Given the description of an element on the screen output the (x, y) to click on. 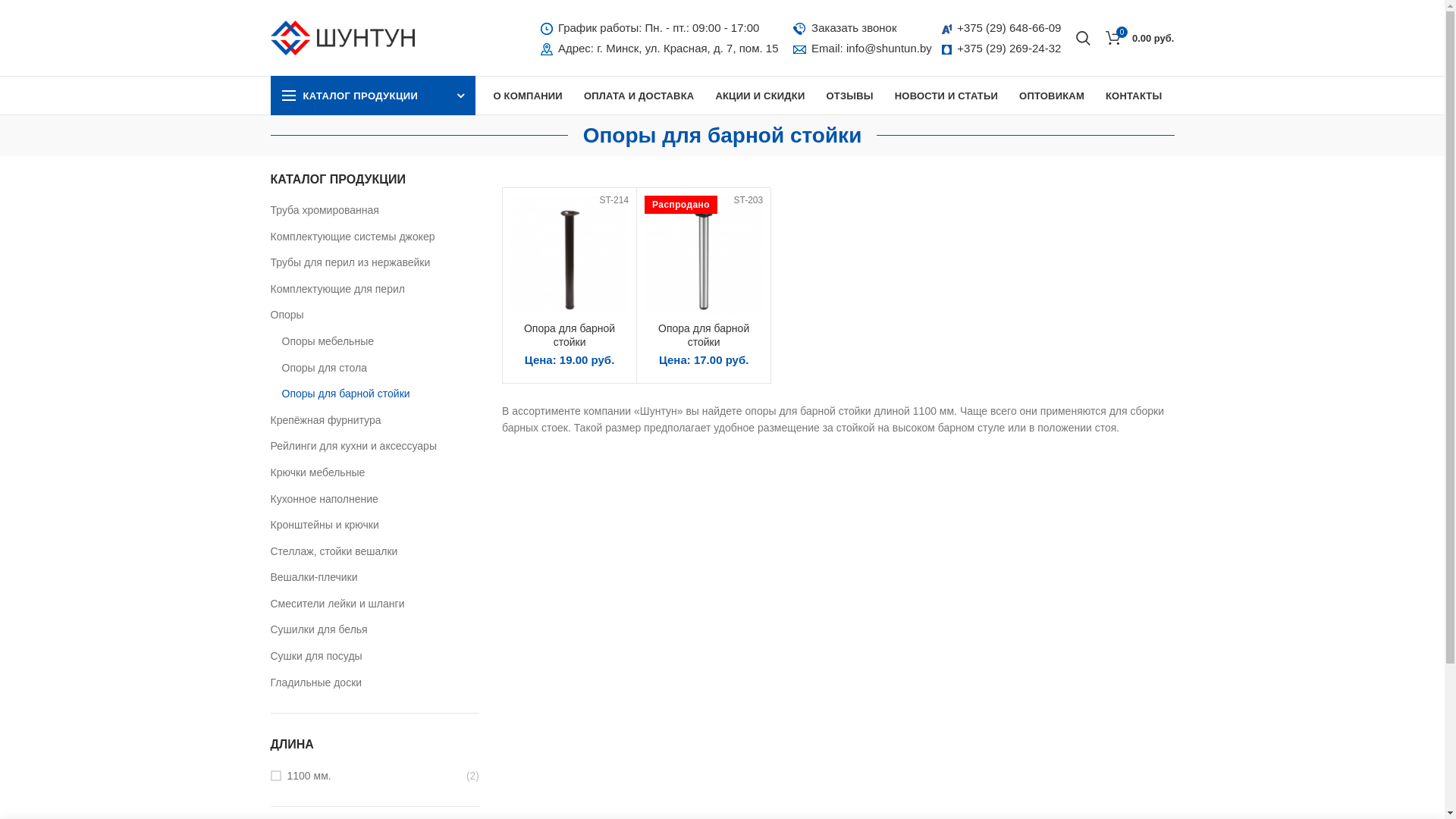
ST-214 Element type: text (569, 254)
info@shuntun.by Element type: text (888, 47)
+375 (29) 269-24-32 Element type: text (1008, 47)
+375 (29) 648-66-09 Element type: text (1008, 27)
